Given the description of an element on the screen output the (x, y) to click on. 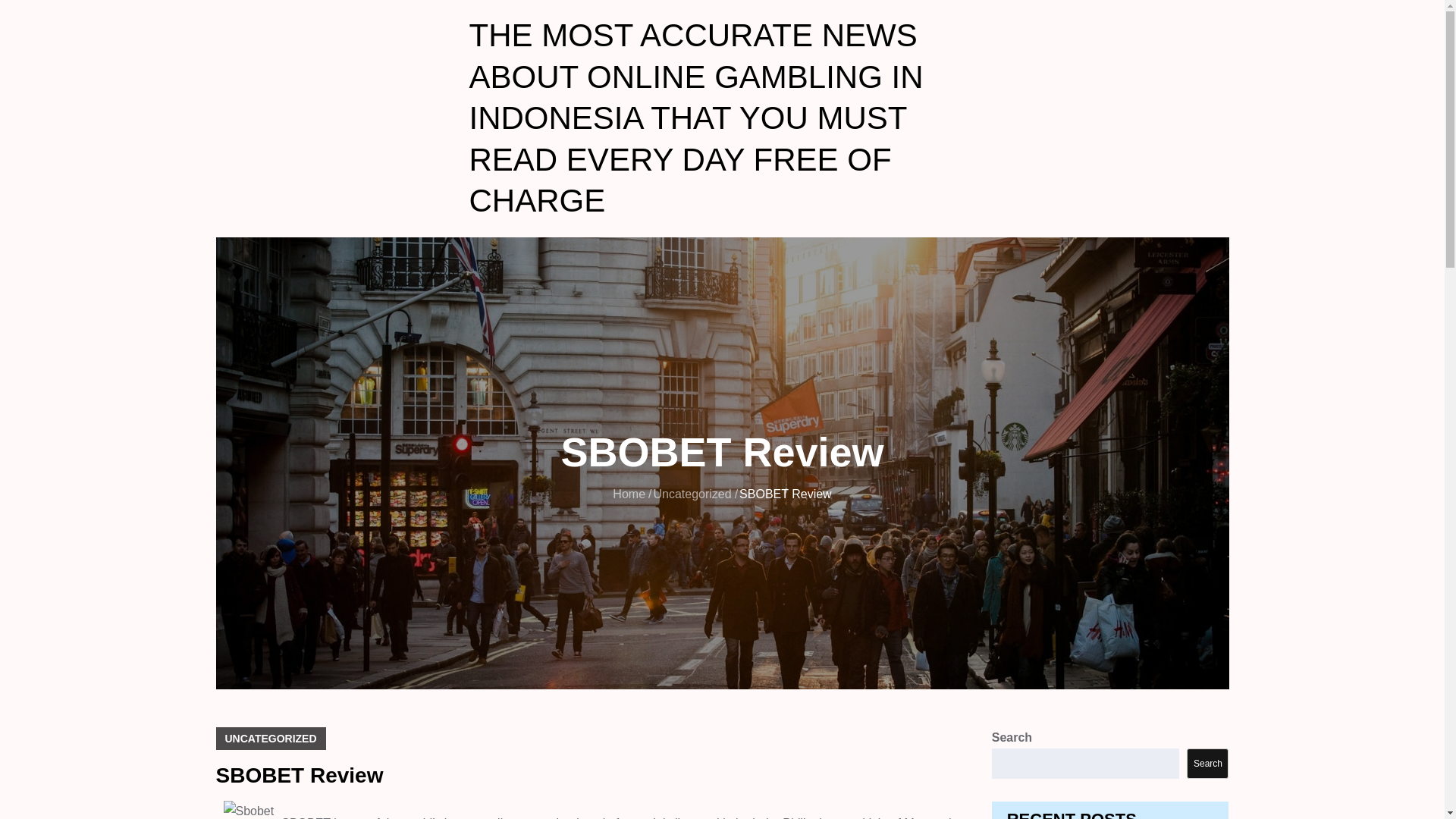
Search (1207, 763)
Home (628, 493)
Uncategorized (691, 493)
UNCATEGORIZED (269, 738)
